Given the description of an element on the screen output the (x, y) to click on. 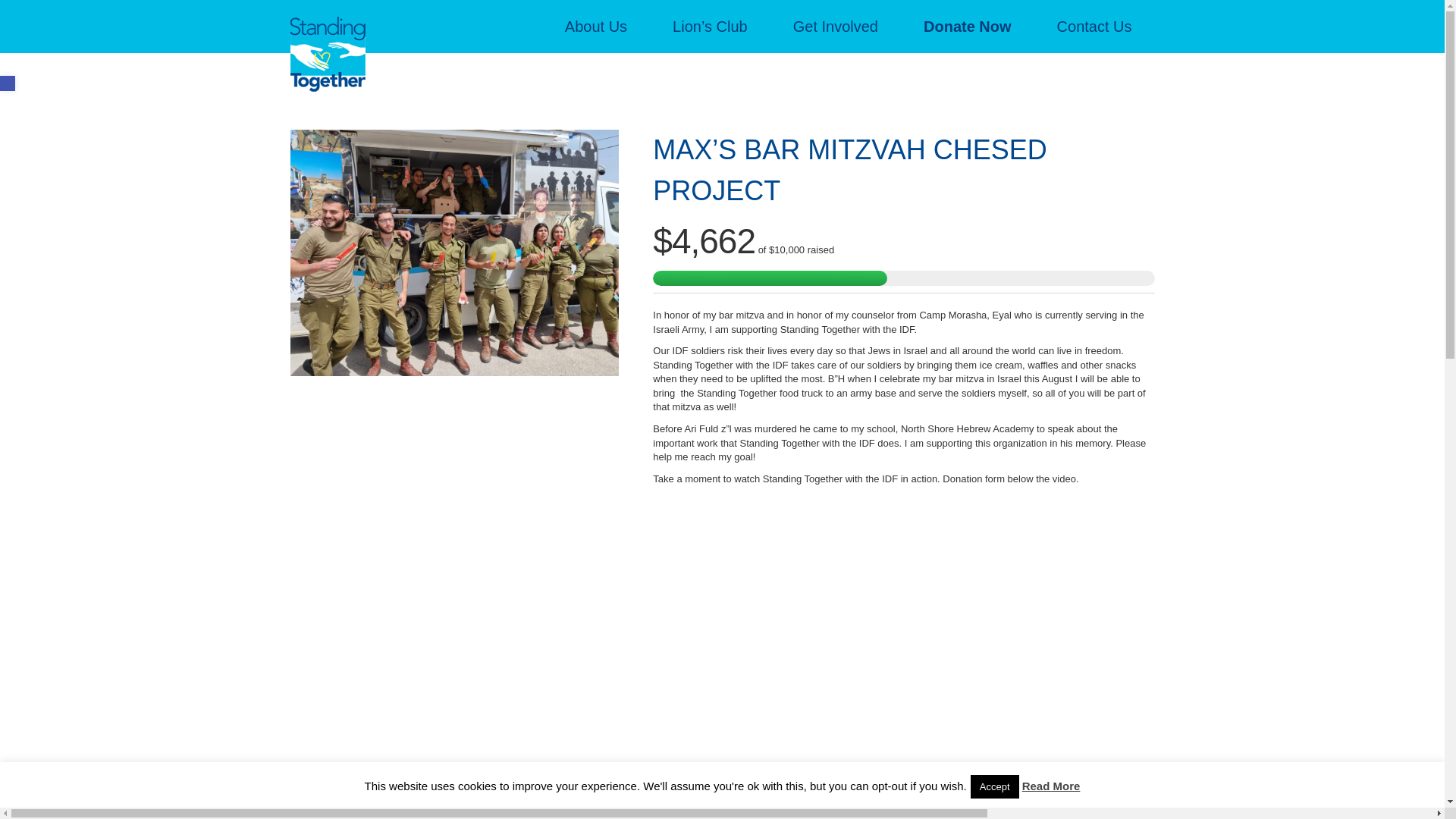
180.00 (726, 804)
About Us (595, 26)
Get Involved (835, 26)
Donate Now (967, 26)
Accessibility Tools (7, 83)
Open toolbar (7, 83)
Contact Us (1093, 26)
